Given the description of an element on the screen output the (x, y) to click on. 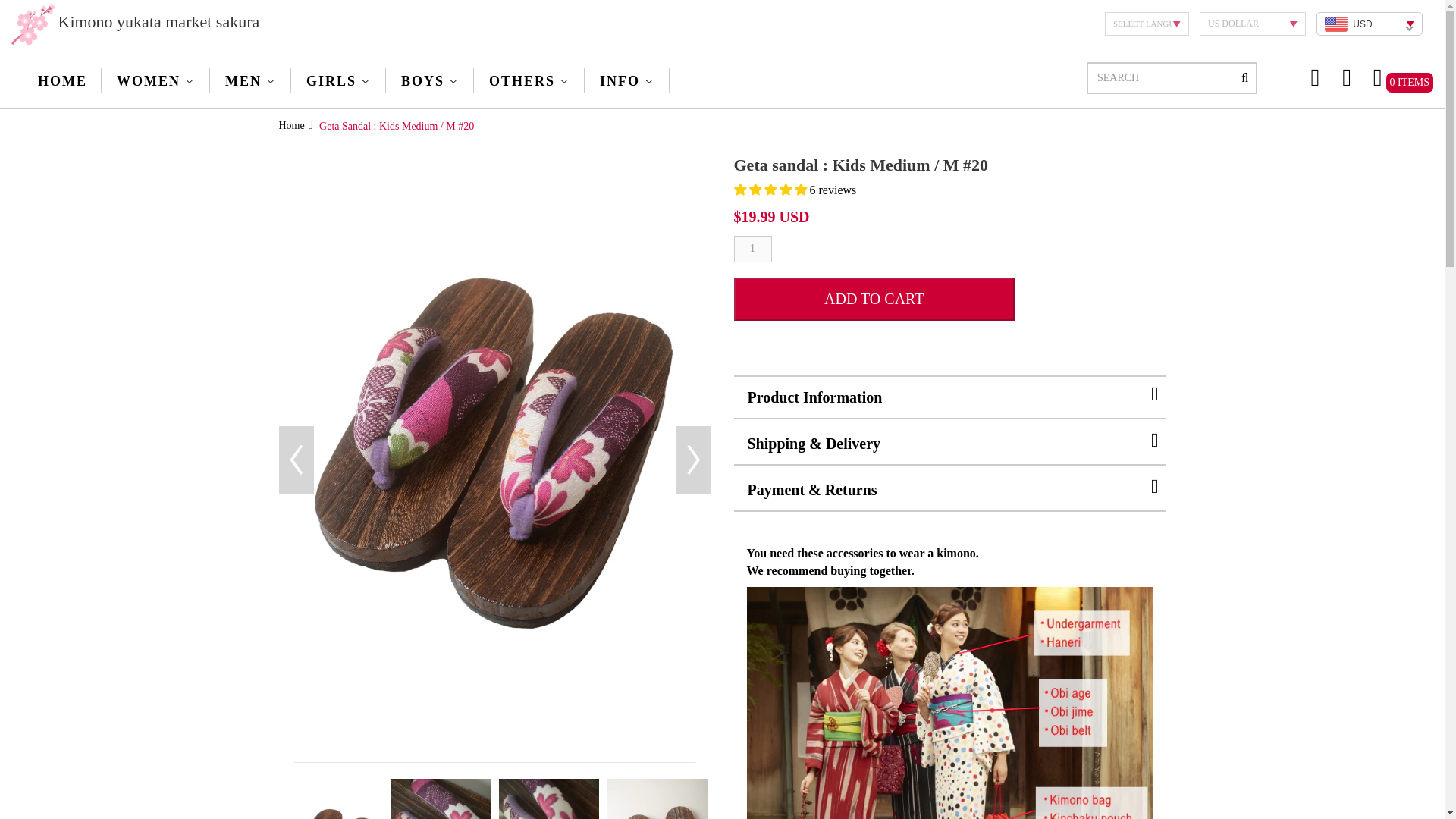
HOME (61, 79)
WOMEN (155, 79)
Kimono yukata market sakura (135, 24)
Kimono yukata market sakura (33, 24)
1 (752, 248)
